Given the description of an element on the screen output the (x, y) to click on. 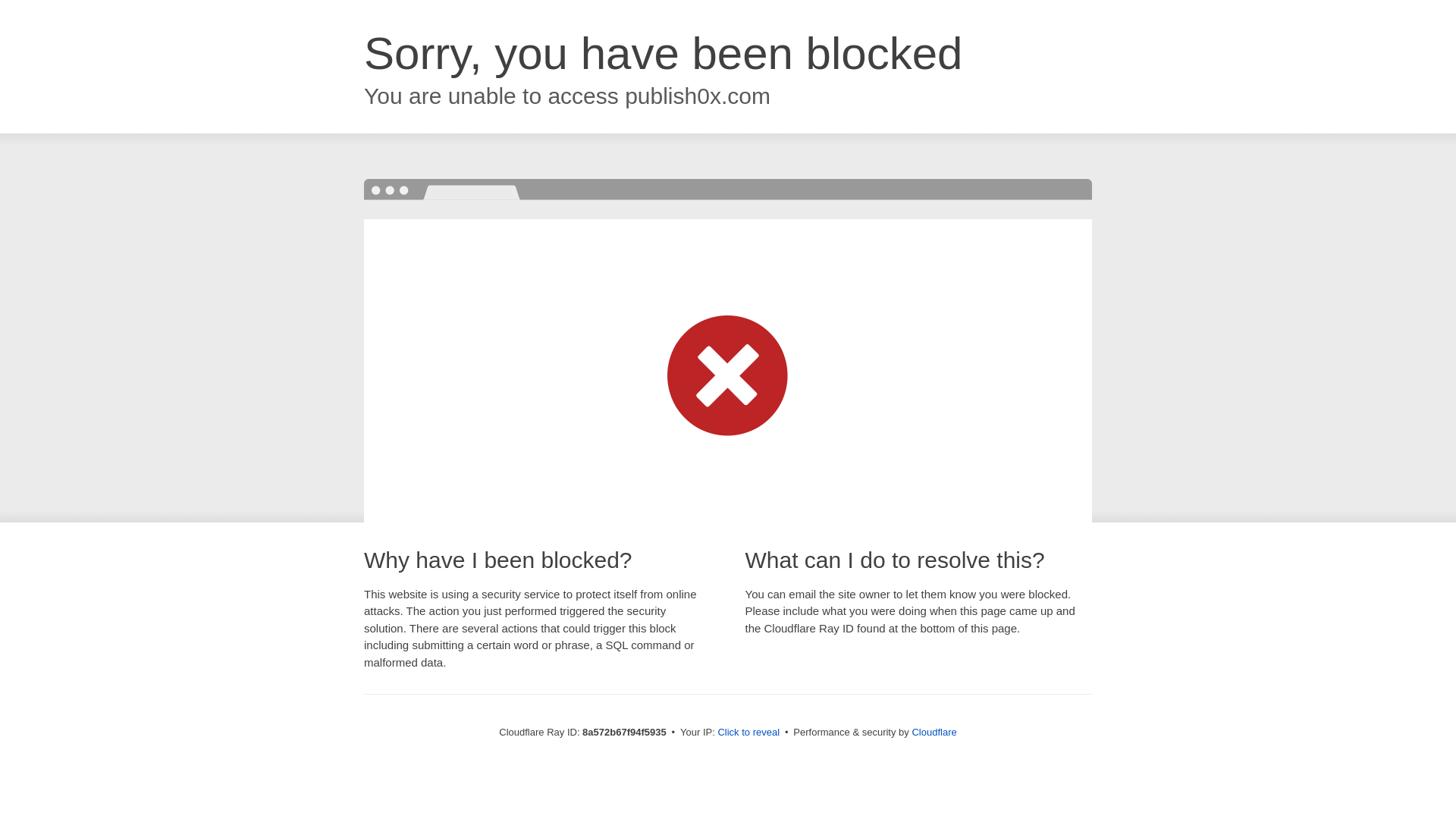
Click to reveal (747, 732)
Cloudflare (933, 731)
